Given the description of an element on the screen output the (x, y) to click on. 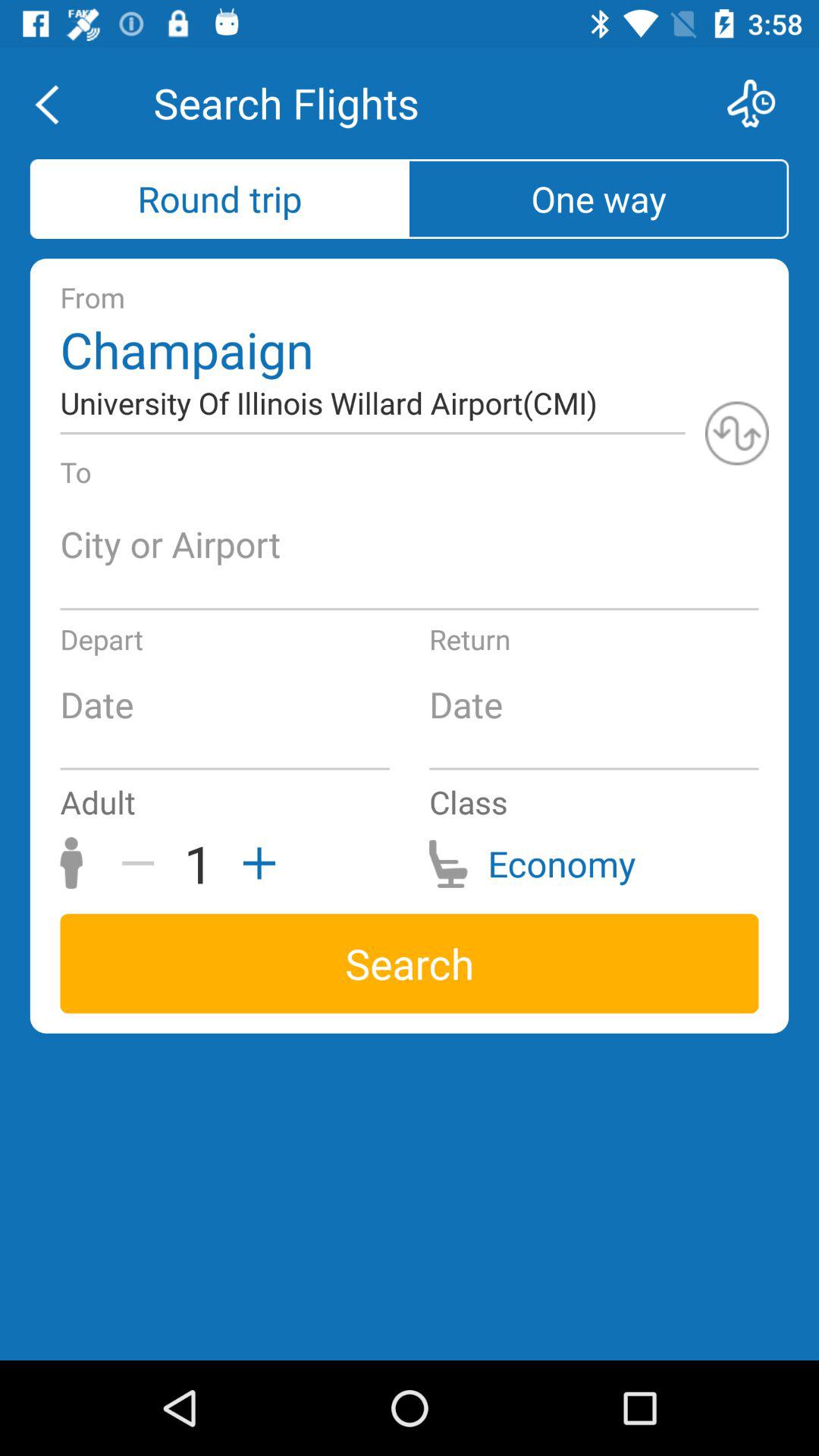
decreases a number (143, 863)
